Given the description of an element on the screen output the (x, y) to click on. 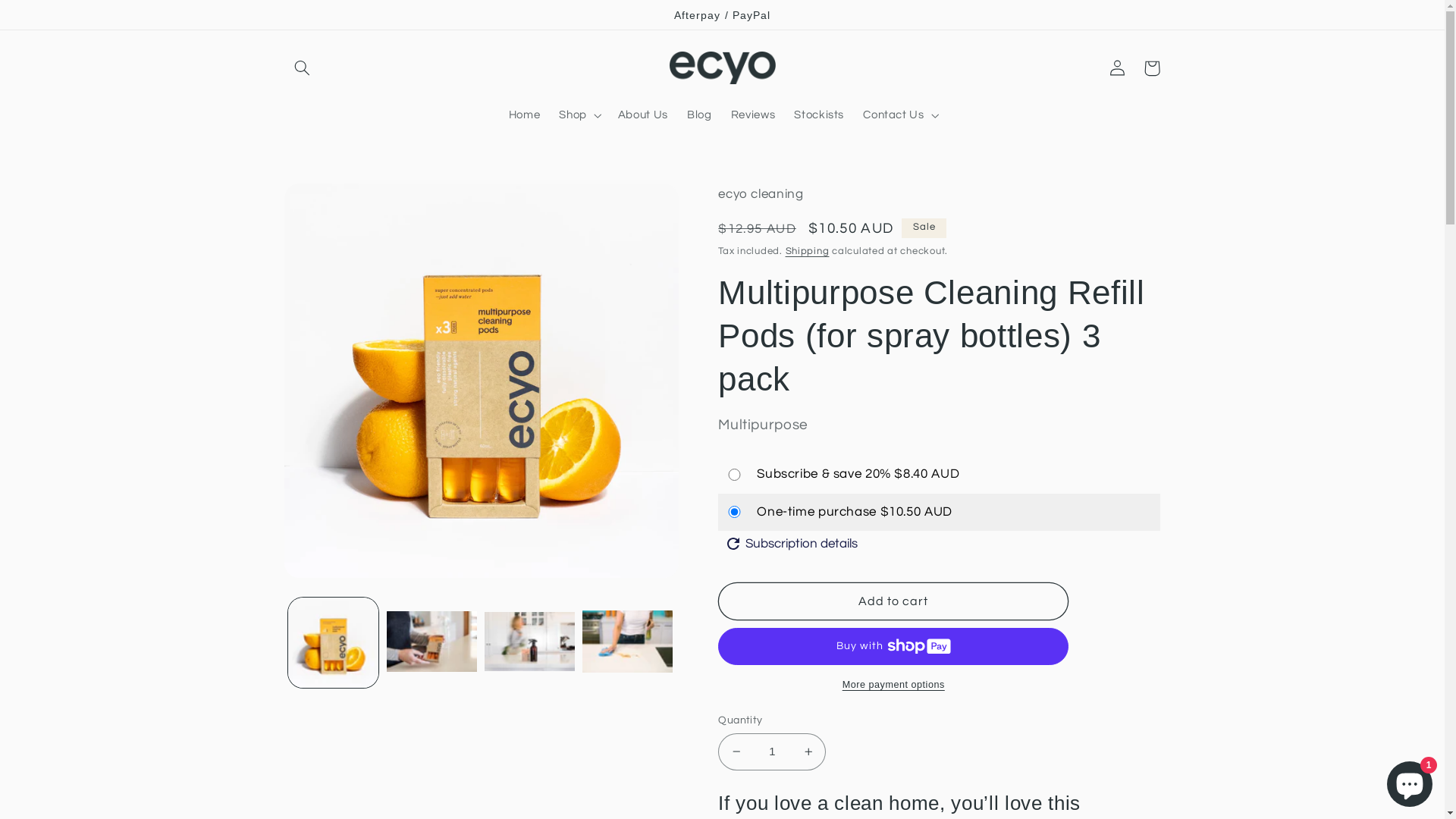
Subscription details Element type: text (792, 543)
Reviews Element type: text (752, 114)
Shopify online store chat Element type: hover (1409, 780)
Home Element type: text (523, 114)
Cart Element type: text (1151, 67)
Skip to product information Element type: text (331, 200)
More payment options Element type: text (893, 685)
Log in Element type: text (1116, 67)
Shipping Element type: text (807, 251)
Stockists Element type: text (818, 114)
Blog Element type: text (699, 114)
About Us Element type: text (642, 114)
Add to cart Element type: text (893, 600)
